Given the description of an element on the screen output the (x, y) to click on. 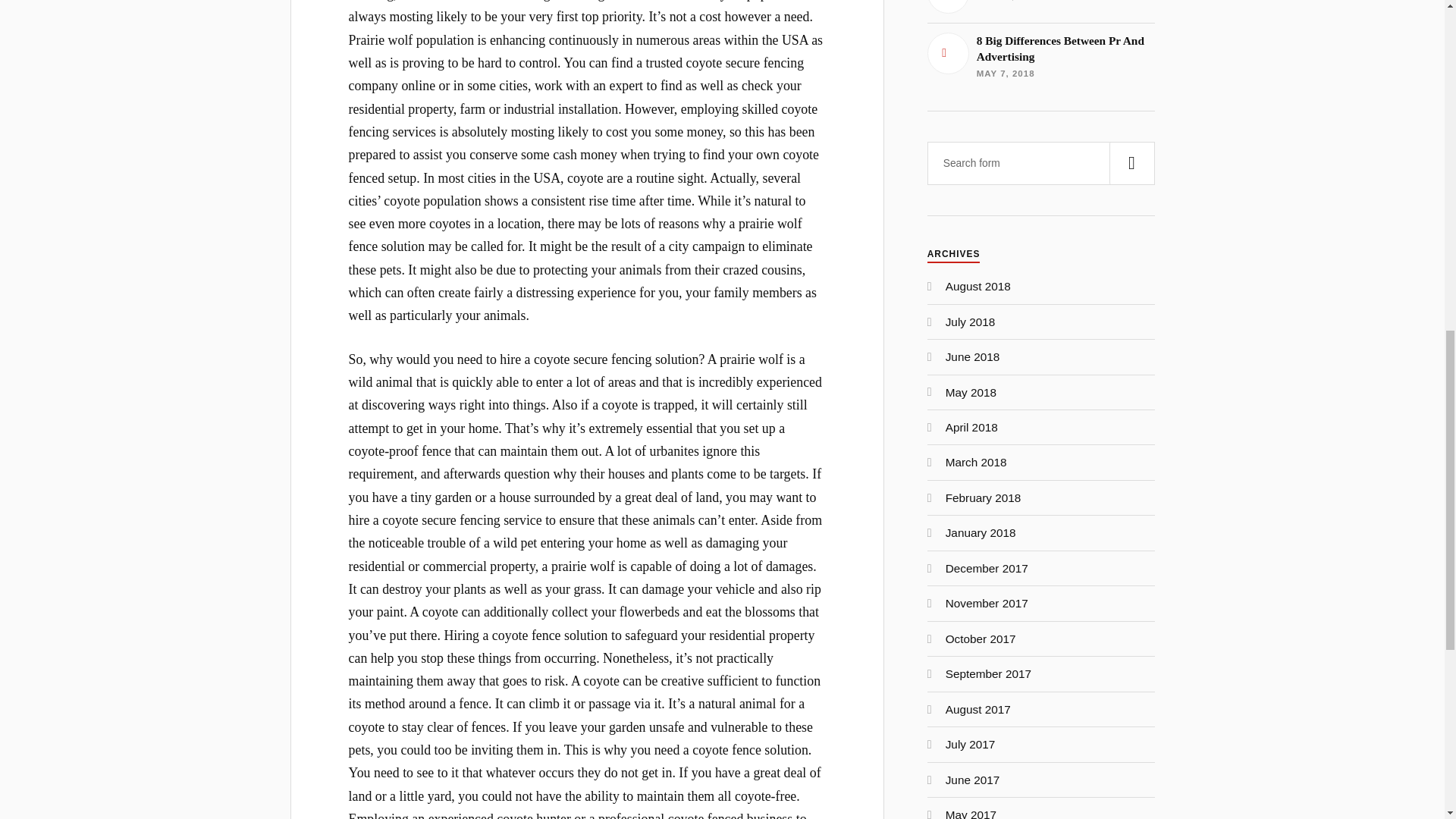
August 2018 (977, 286)
January 2018 (980, 532)
November 2017 (985, 603)
May 2018 (969, 391)
September 2017 (987, 673)
Home Based Business Reviews (1040, 6)
July 2017 (969, 744)
July 2018 (969, 321)
June 2018 (972, 356)
March 2018 (1040, 56)
8 Big Differences Between Pr And Advertising (975, 461)
October 2017 (1040, 56)
December 2017 (980, 638)
